Given the description of an element on the screen output the (x, y) to click on. 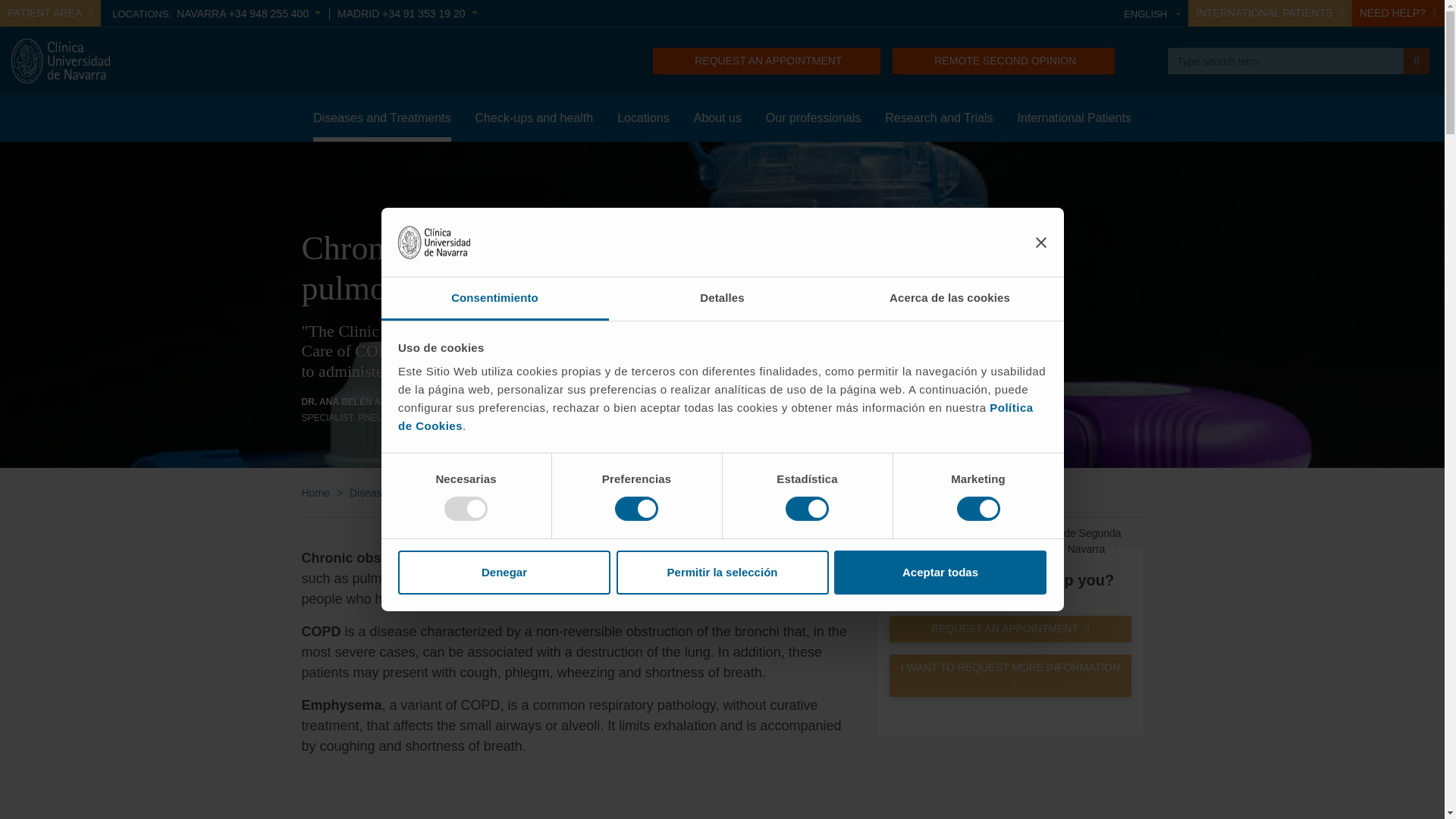
NAVARRA (248, 13)
on (807, 508)
Consentimiento (494, 299)
Detalles (721, 299)
MADRID (407, 13)
Acerca de las cookies (948, 299)
Idioma (1152, 13)
on (465, 508)
on (636, 508)
on (978, 508)
